Given the description of an element on the screen output the (x, y) to click on. 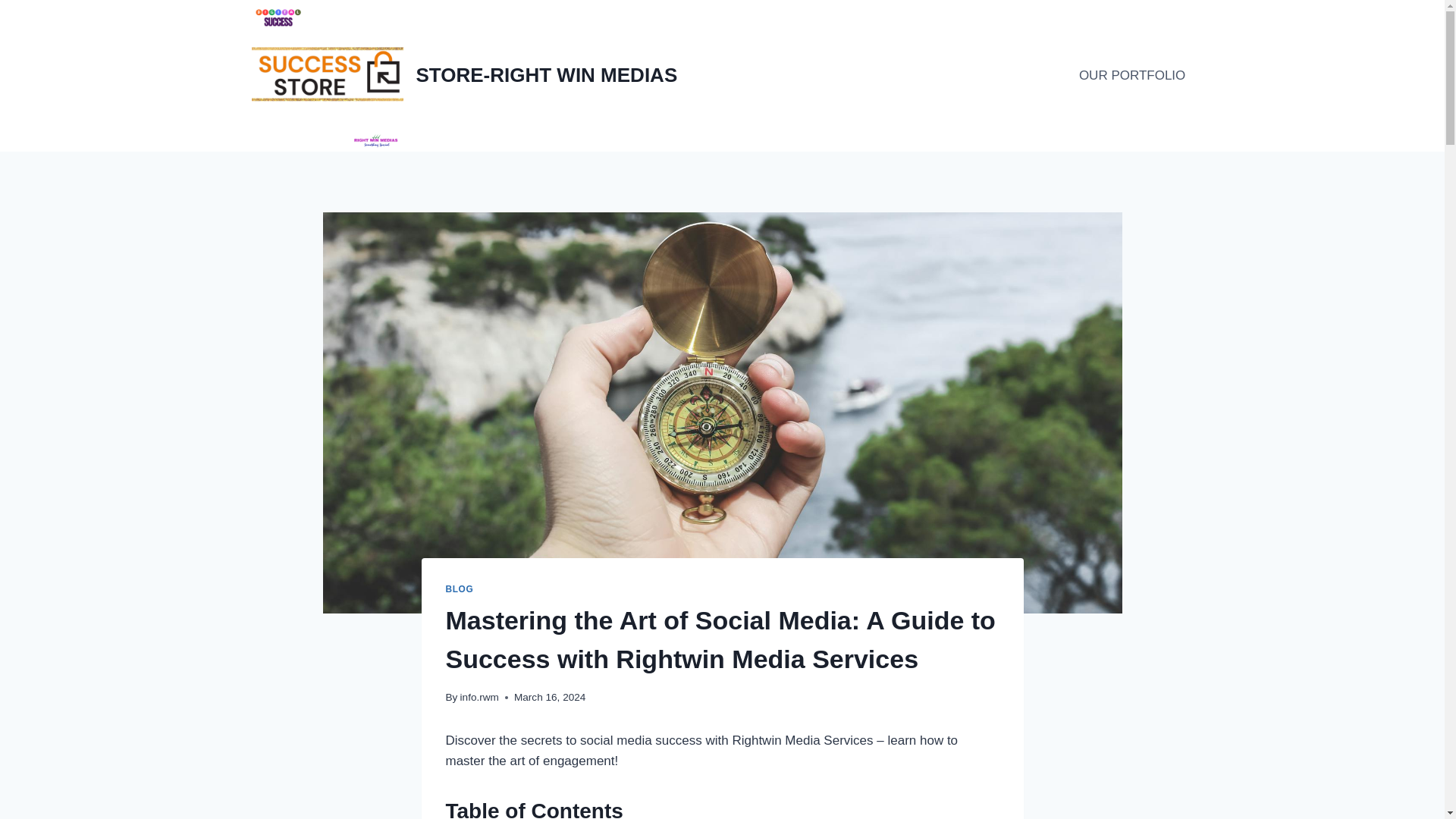
info.rwm (479, 696)
STORE-RIGHT WIN MEDIAS (464, 75)
OUR PORTFOLIO (1132, 75)
BLOG (459, 588)
